Given the description of an element on the screen output the (x, y) to click on. 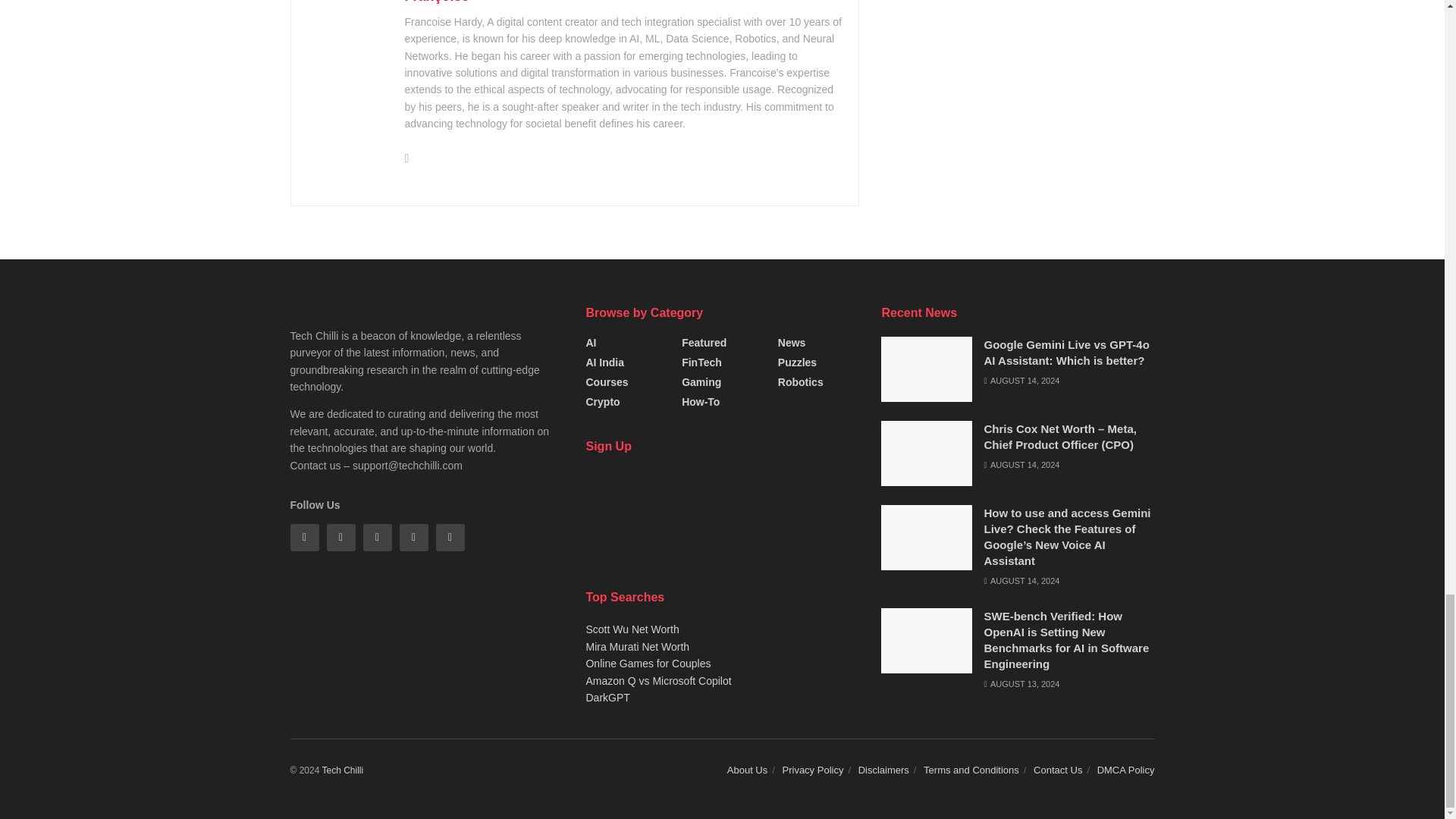
Amazon Q vs Microsoft Copilot (657, 680)
Online Games for Couples (647, 663)
DarkGPT (606, 697)
Mira Murati Net Worth (636, 646)
Scott Wu Net Worth (631, 629)
